Given the description of an element on the screen output the (x, y) to click on. 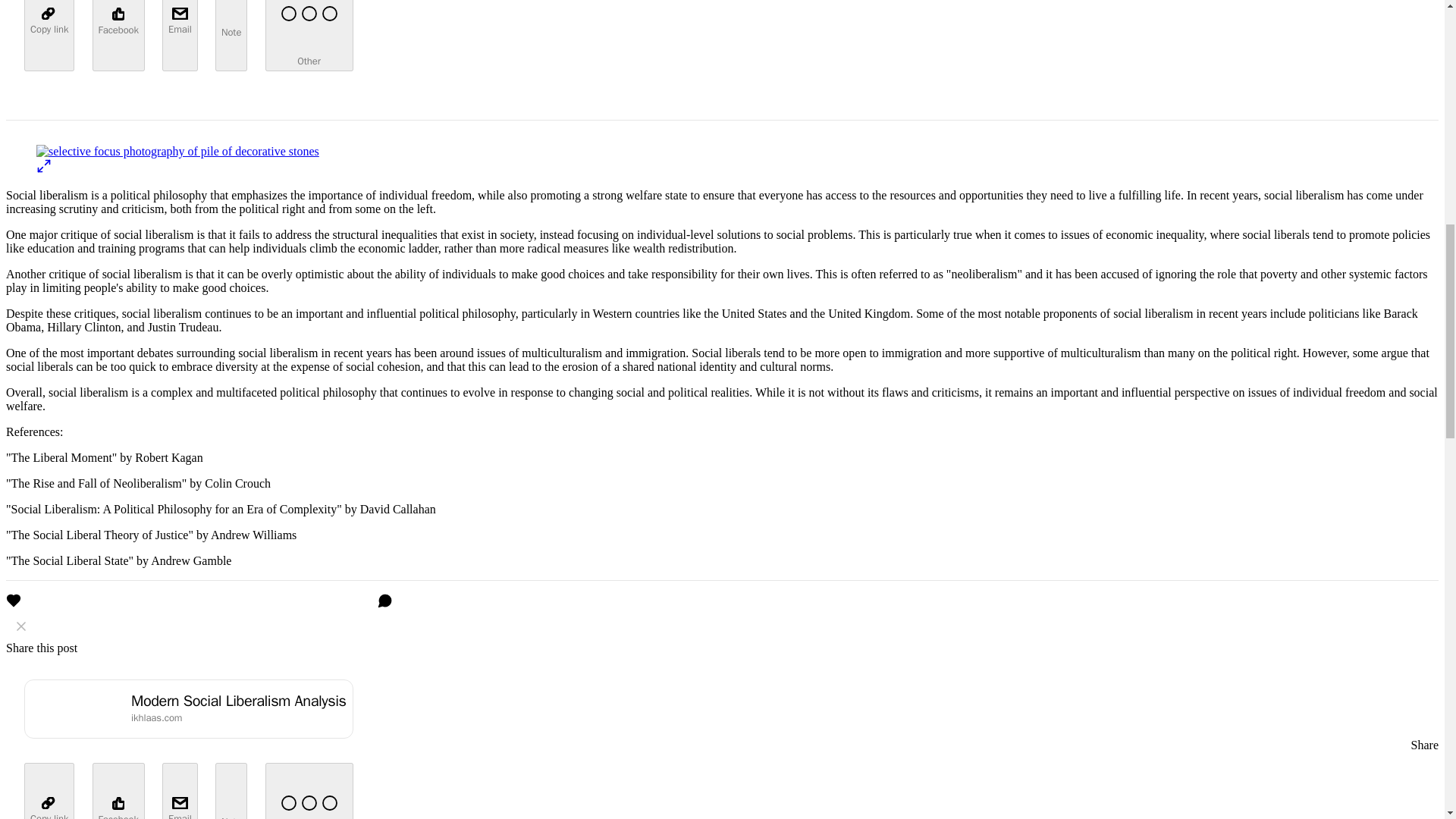
Facebook (118, 790)
selective focus photography of pile of decorative stones (177, 151)
Other (308, 35)
Copy link (49, 790)
Other (308, 790)
